Given the description of an element on the screen output the (x, y) to click on. 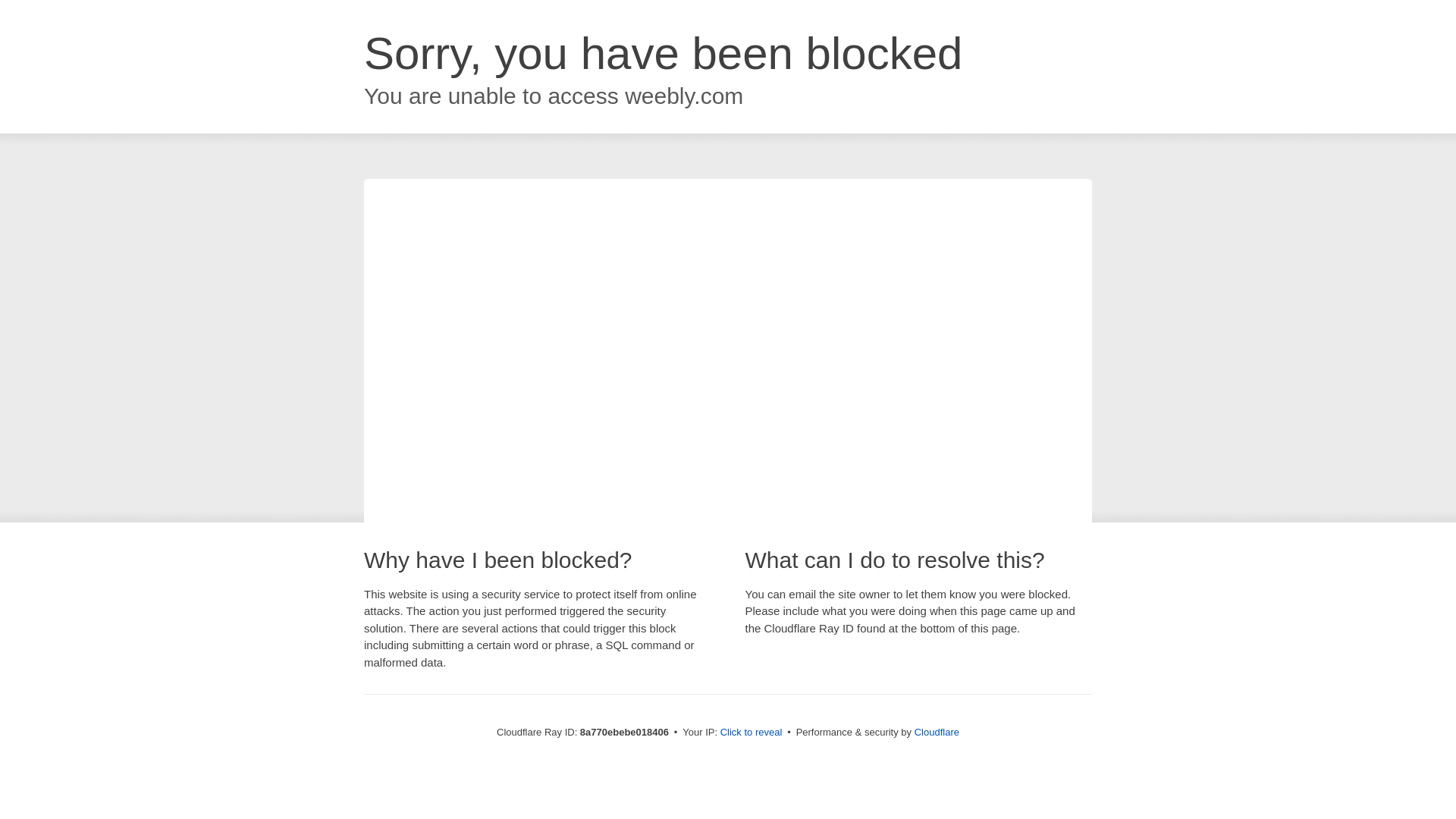
Click to reveal (751, 732)
Cloudflare (936, 731)
